Given the description of an element on the screen output the (x, y) to click on. 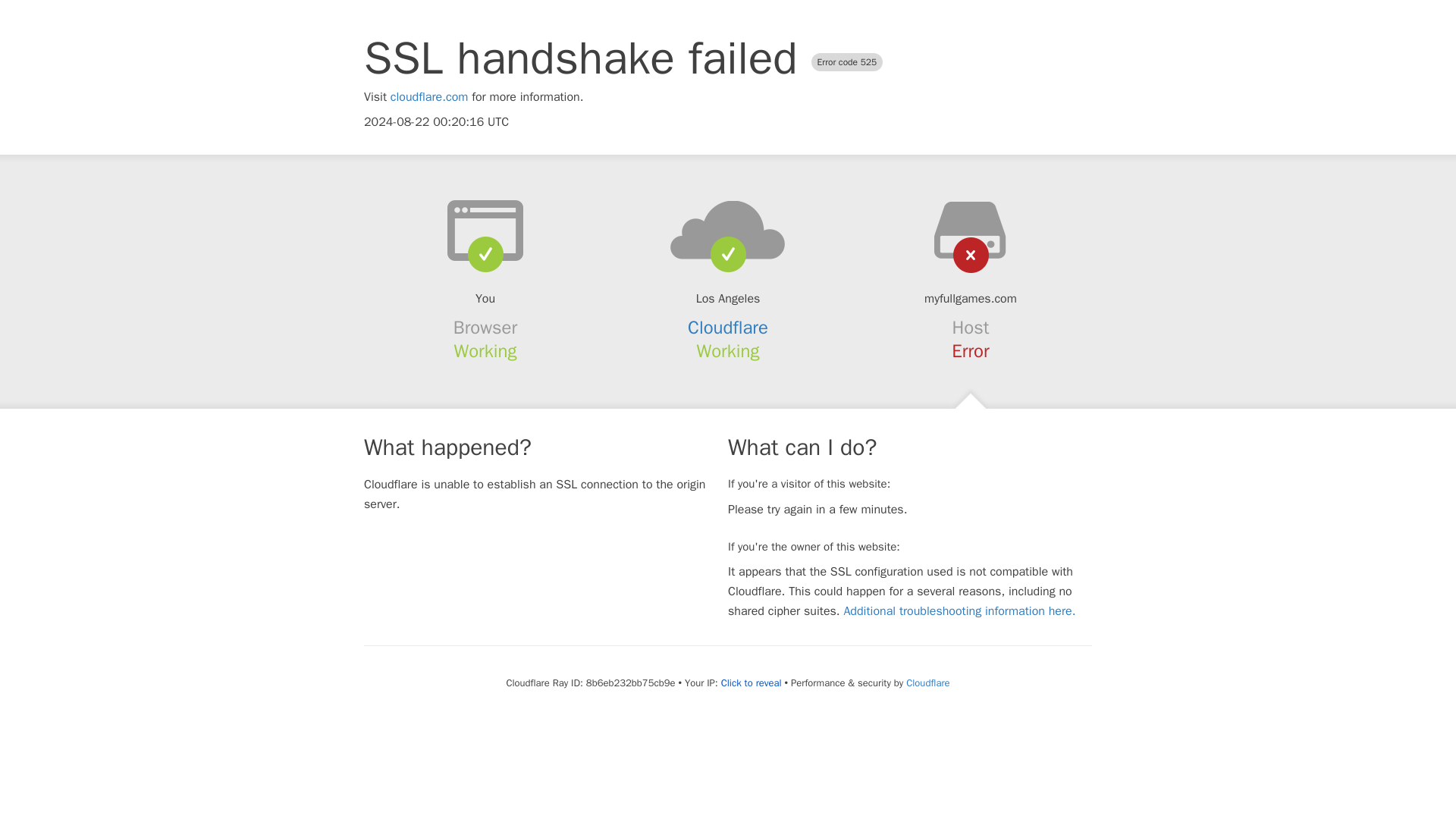
Cloudflare (727, 327)
Cloudflare (927, 682)
Additional troubleshooting information here. (959, 611)
Click to reveal (750, 683)
cloudflare.com (429, 96)
